Given the description of an element on the screen output the (x, y) to click on. 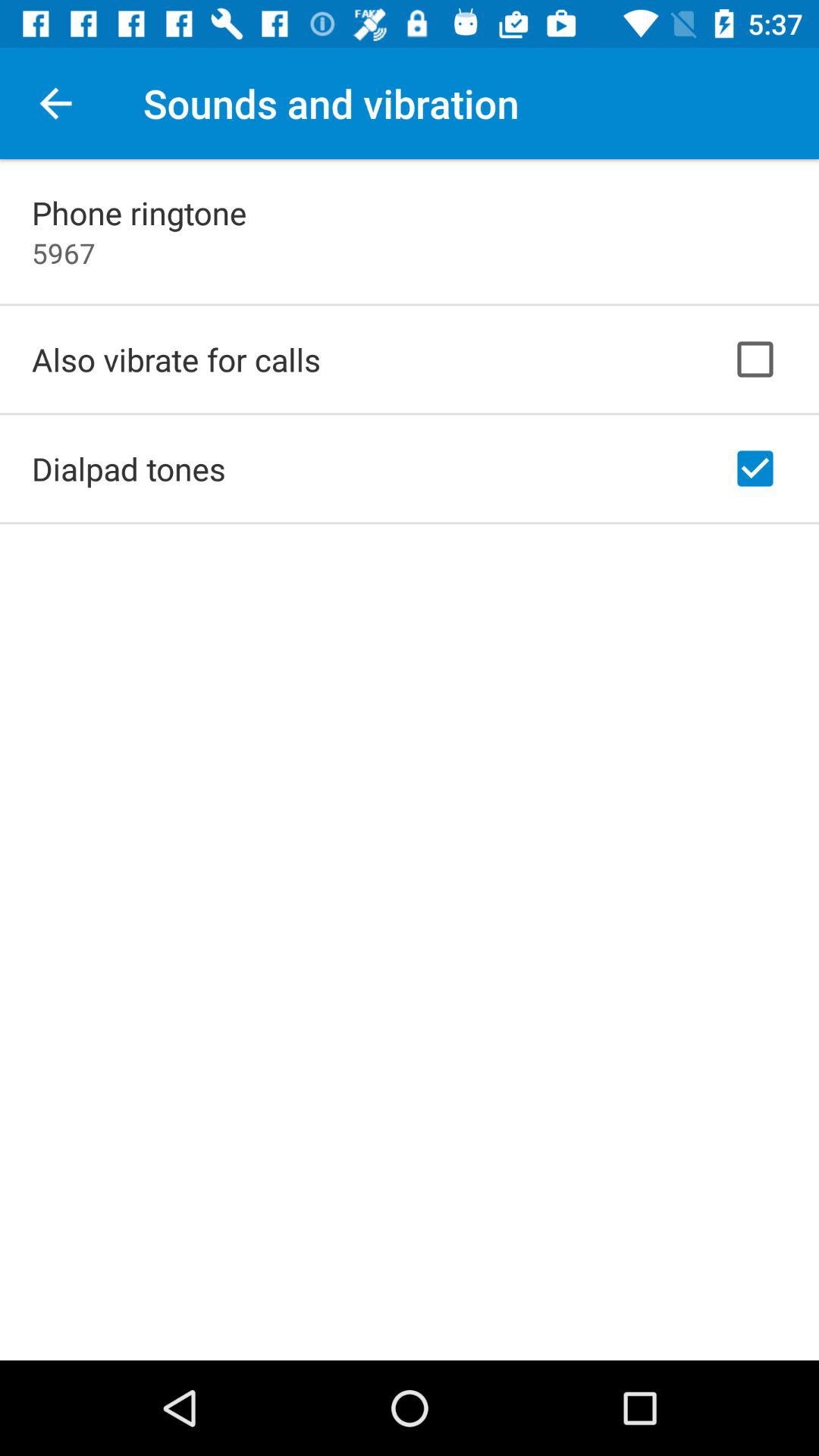
launch the also vibrate for (175, 359)
